Given the description of an element on the screen output the (x, y) to click on. 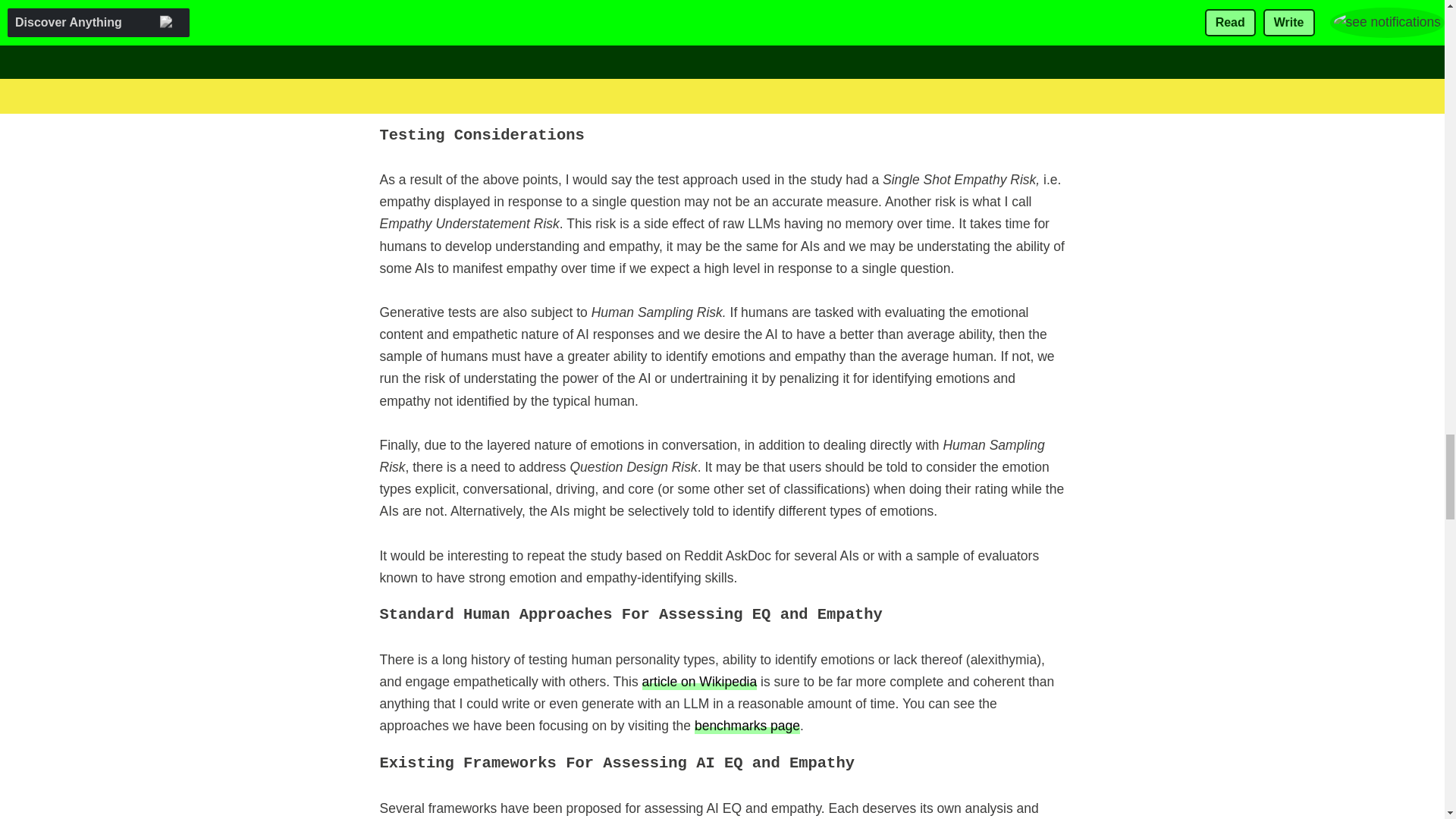
article on Wikipedia (699, 681)
benchmarks page (746, 724)
